Given the description of an element on the screen output the (x, y) to click on. 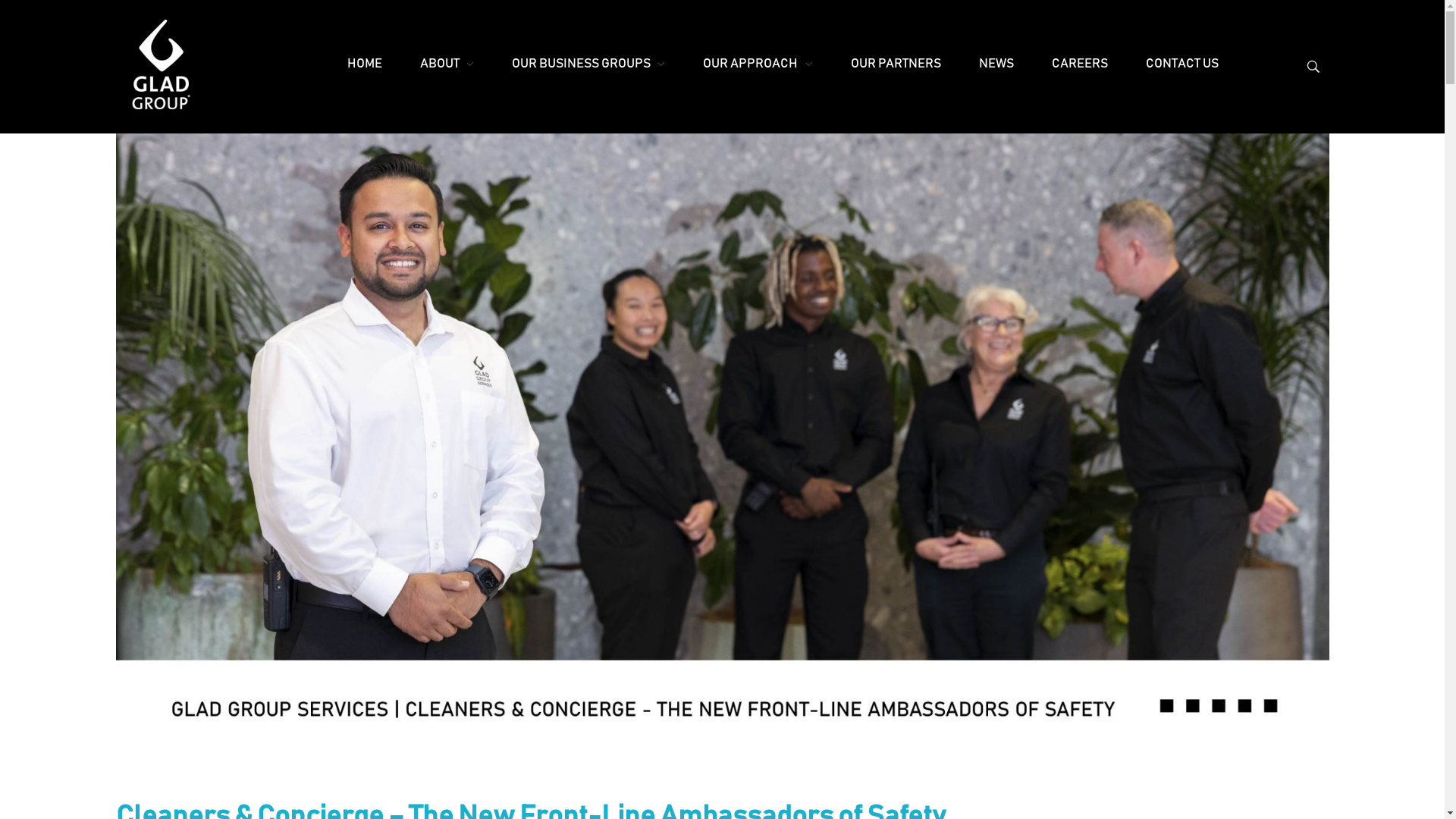
NEWS Element type: text (996, 63)
HOME Element type: text (364, 63)
Glad Group Element type: text (164, 118)
OUR BUSINESS GROUPS Element type: text (588, 63)
ABOUT Element type: text (446, 63)
Glad Group Element type: hover (160, 63)
CONTACT US Element type: text (1181, 63)
CAREERS Element type: text (1079, 63)
OUR PARTNERS Element type: text (895, 63)
OUR APPROACH Element type: text (757, 63)
